Given the description of an element on the screen output the (x, y) to click on. 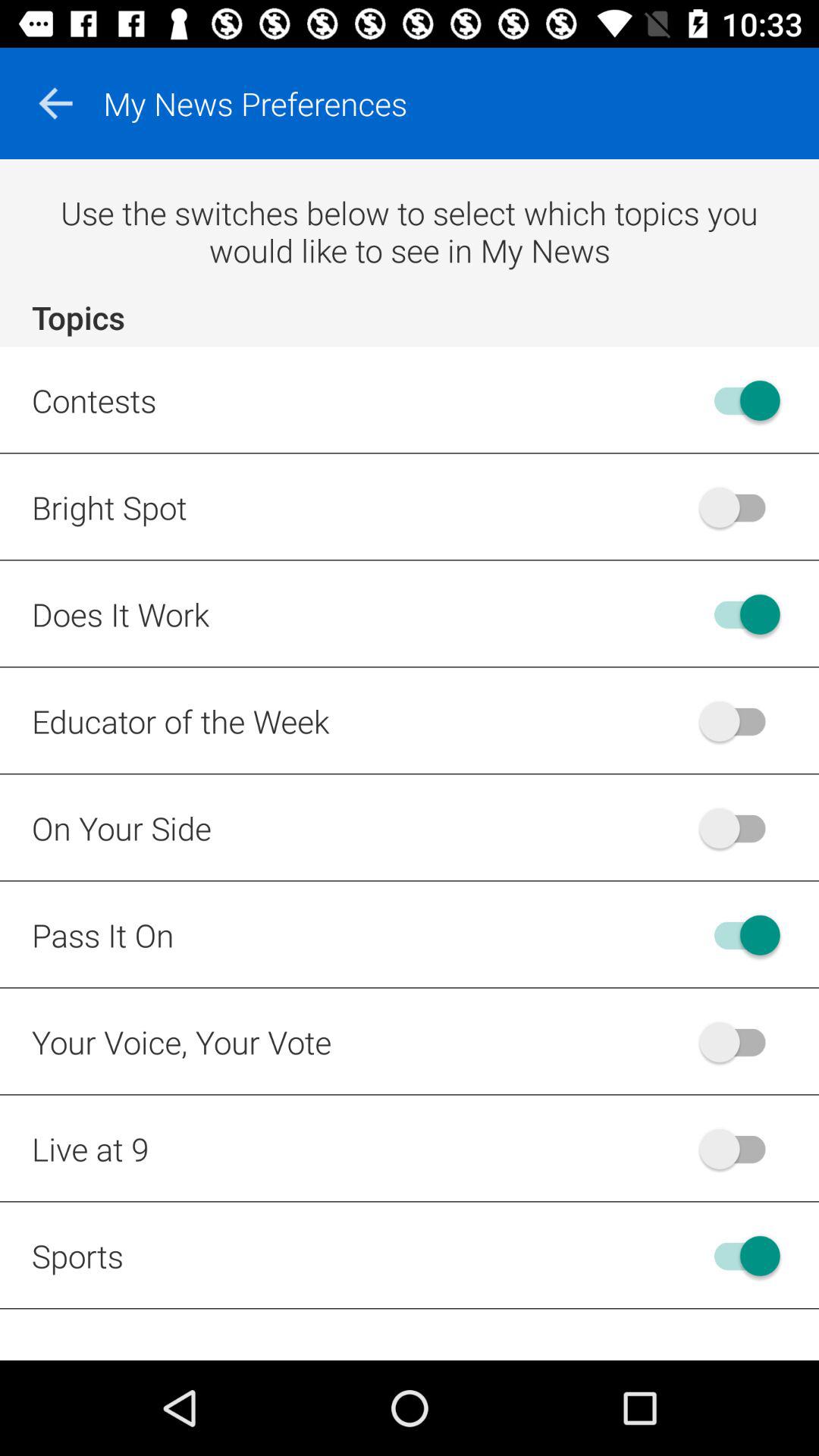
toggle bright spot feature (739, 506)
